Given the description of an element on the screen output the (x, y) to click on. 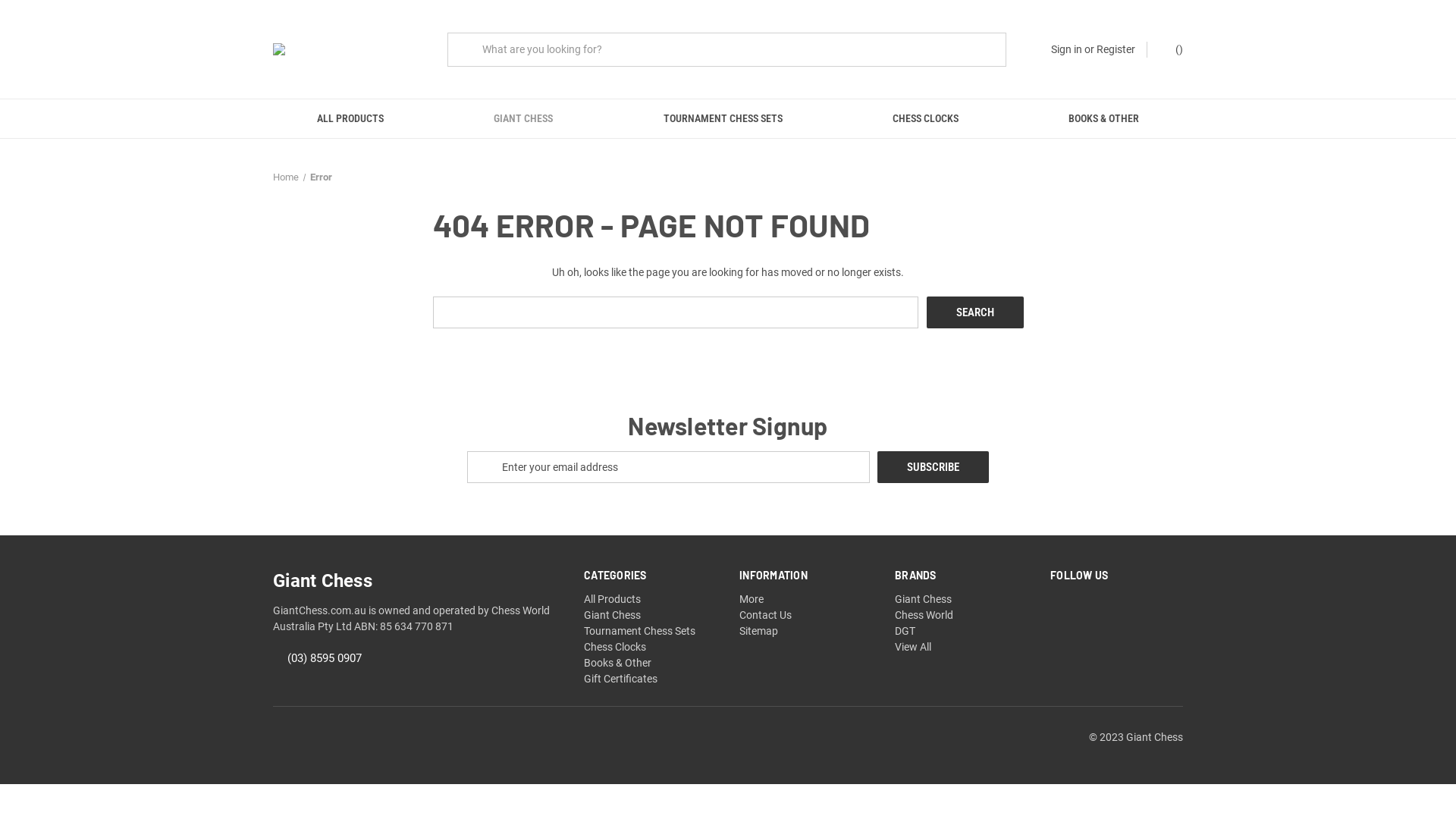
All Products Element type: text (611, 599)
DGT Element type: text (904, 630)
Sitemap Element type: text (758, 630)
() Element type: text (1170, 48)
(03) 8595 0907 Element type: text (324, 658)
More Element type: text (751, 599)
Chess World Element type: text (923, 614)
Sign in Element type: text (1066, 48)
Error Element type: text (320, 176)
Subscribe Element type: text (932, 467)
View All Element type: text (912, 646)
Search Element type: text (974, 311)
Chess Clocks Element type: text (614, 646)
Gift Certificates Element type: text (620, 678)
Giant Chess Element type: text (922, 599)
Register Element type: text (1115, 48)
GIANT CHESS Element type: text (522, 118)
Giant Chess Element type: hover (348, 49)
Giant Chess Element type: text (611, 614)
Books & Other Element type: text (617, 662)
CHESS CLOCKS Element type: text (925, 118)
ALL PRODUCTS Element type: text (349, 118)
Contact Us Element type: text (765, 614)
Tournament Chess Sets Element type: text (639, 630)
TOURNAMENT CHESS SETS Element type: text (722, 118)
Home Element type: text (285, 176)
BOOKS & OTHER Element type: text (1103, 118)
